Given the description of an element on the screen output the (x, y) to click on. 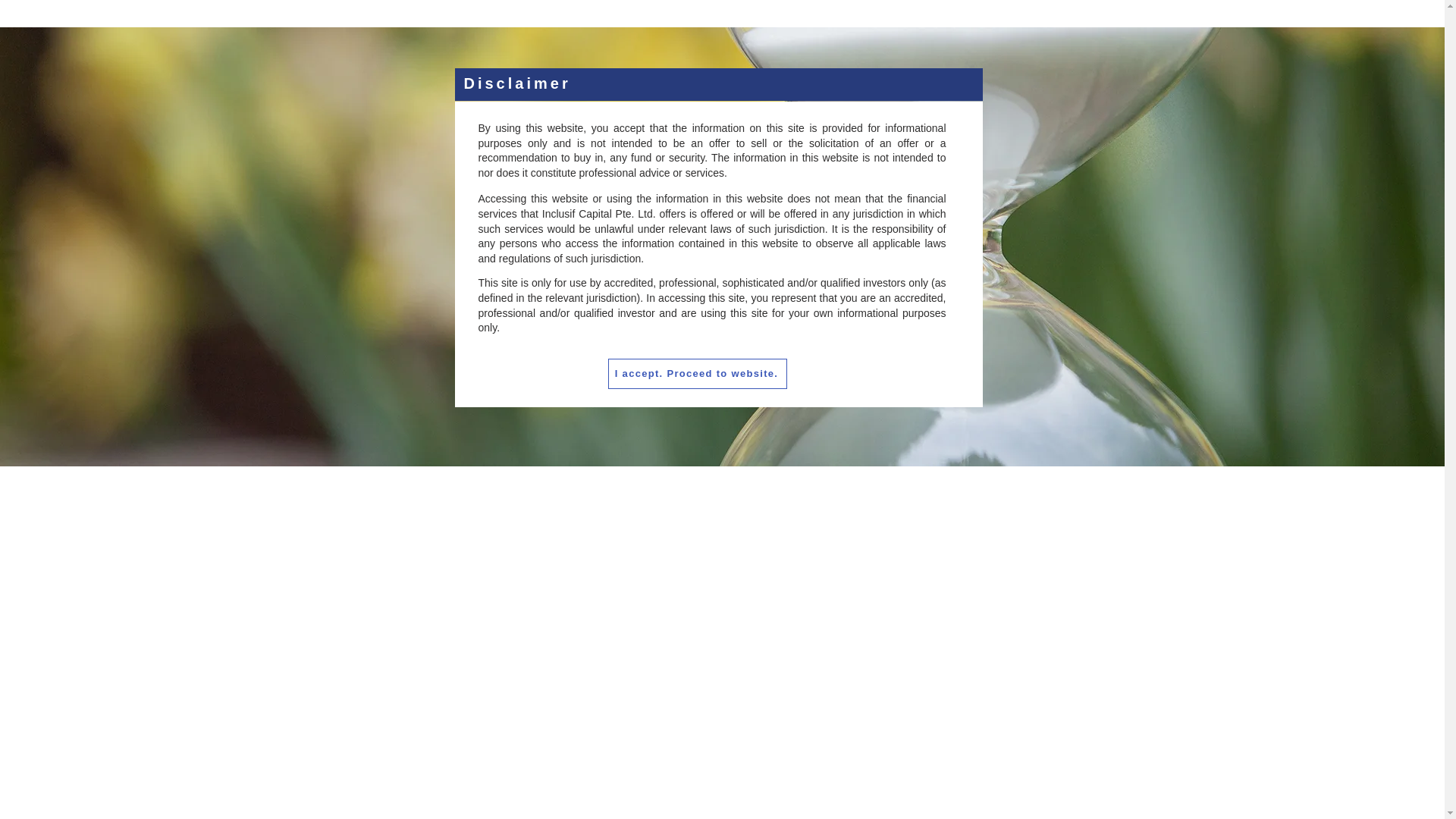
I accept. Proceed to website. (697, 373)
